Given the description of an element on the screen output the (x, y) to click on. 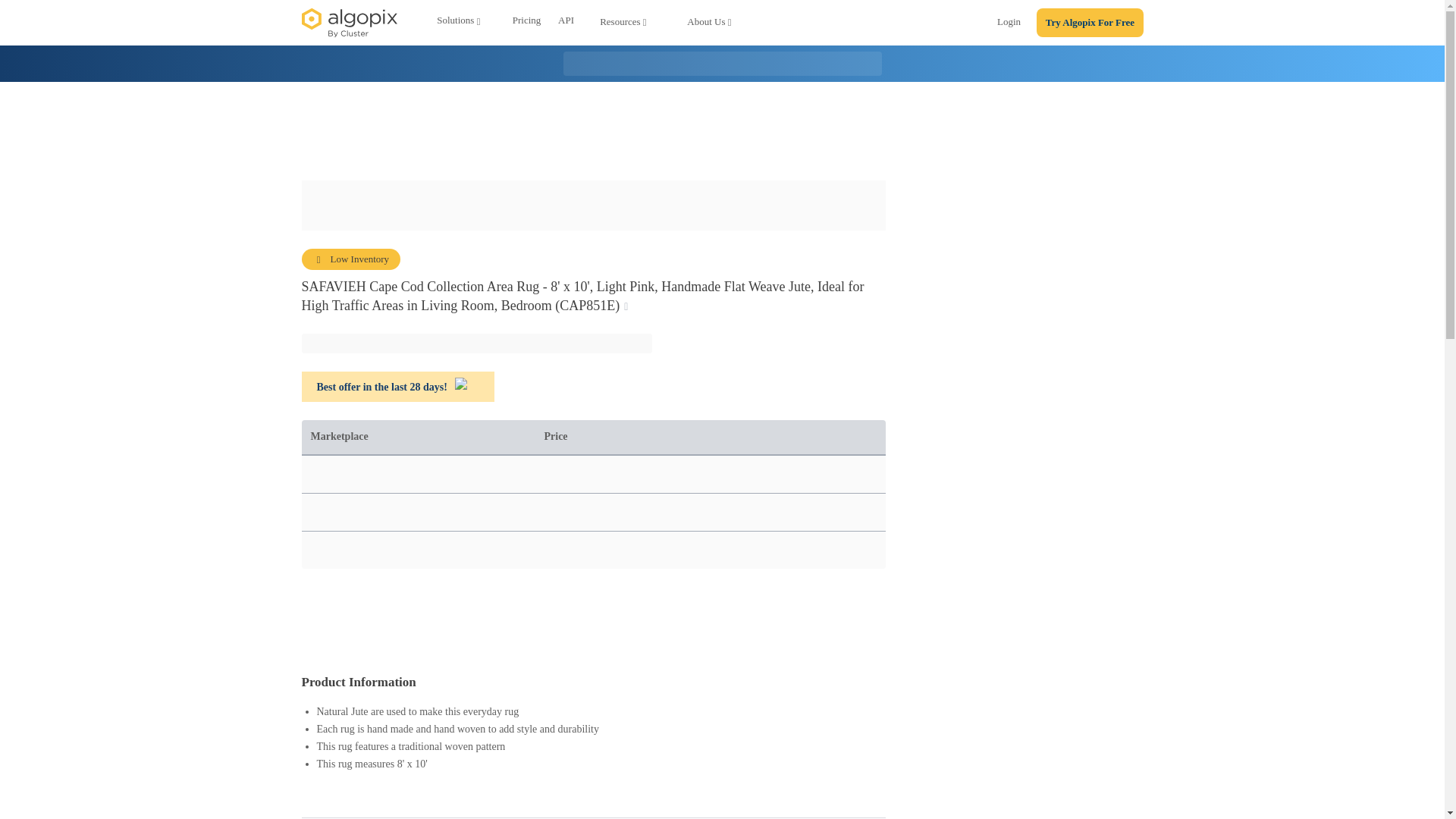
Try Algopix For Free (1089, 22)
API (566, 22)
Pricing (525, 22)
Login (1008, 24)
